Given the description of an element on the screen output the (x, y) to click on. 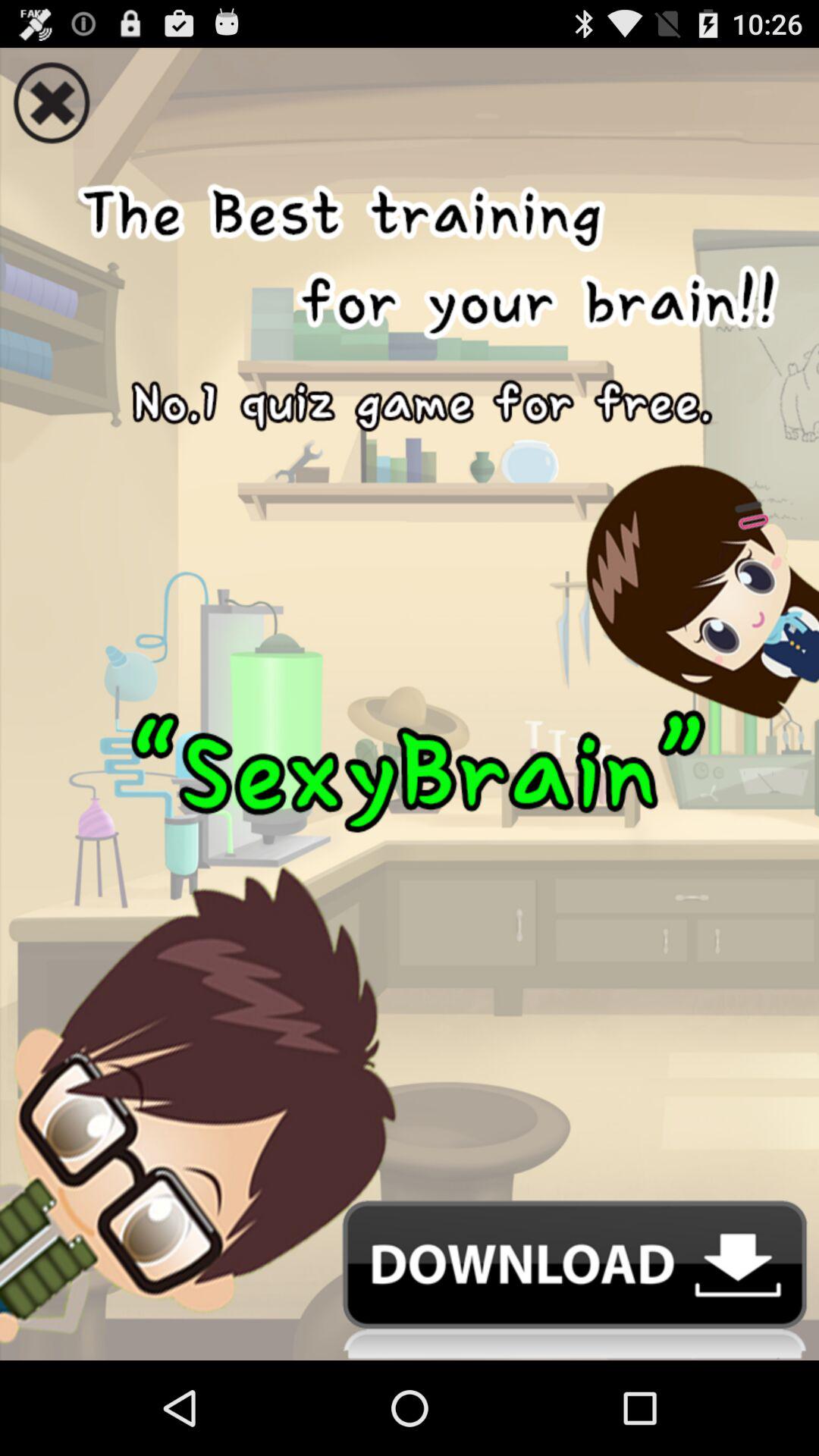
close out the image on screen (409, 97)
